Given the description of an element on the screen output the (x, y) to click on. 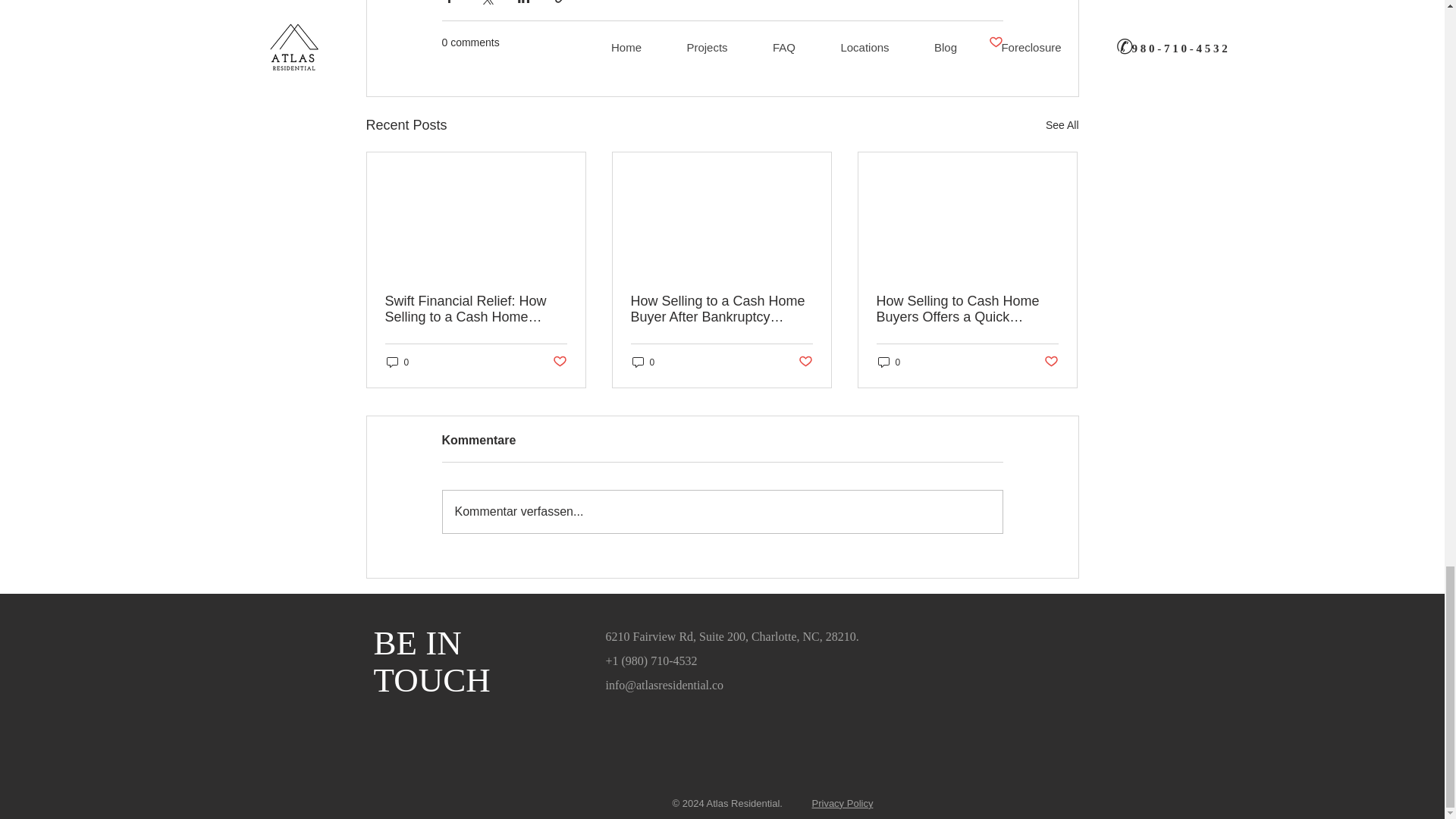
Post not marked as liked (558, 361)
Post not marked as liked (995, 42)
0 (397, 361)
0 (643, 361)
Post not marked as liked (1050, 361)
0 (889, 361)
Post not marked as liked (804, 361)
See All (1061, 125)
